Given the description of an element on the screen output the (x, y) to click on. 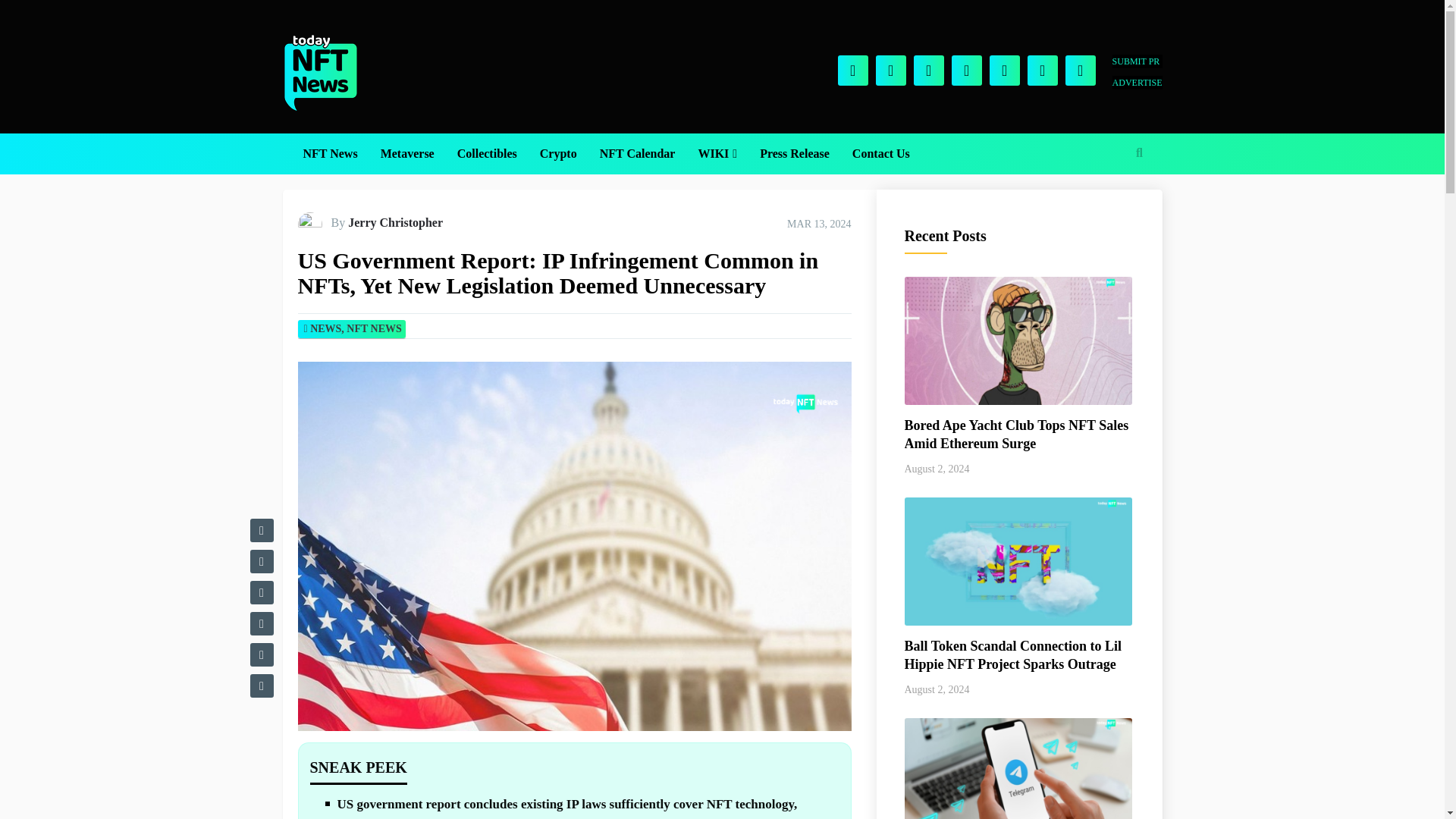
NFT News (329, 153)
Posts by Jerry Christopher (394, 222)
Collectibles (486, 153)
Press Release (794, 153)
View all posts in News (325, 328)
Jerry Christopher (394, 222)
ADVERTISE (1136, 82)
WIKI (716, 153)
NFT Calendar (637, 153)
Contact Us (881, 153)
SUBMIT PR (1136, 60)
Crypto (558, 153)
View all posts in NFT News (373, 328)
NEWS (325, 328)
Metaverse (407, 153)
